Given the description of an element on the screen output the (x, y) to click on. 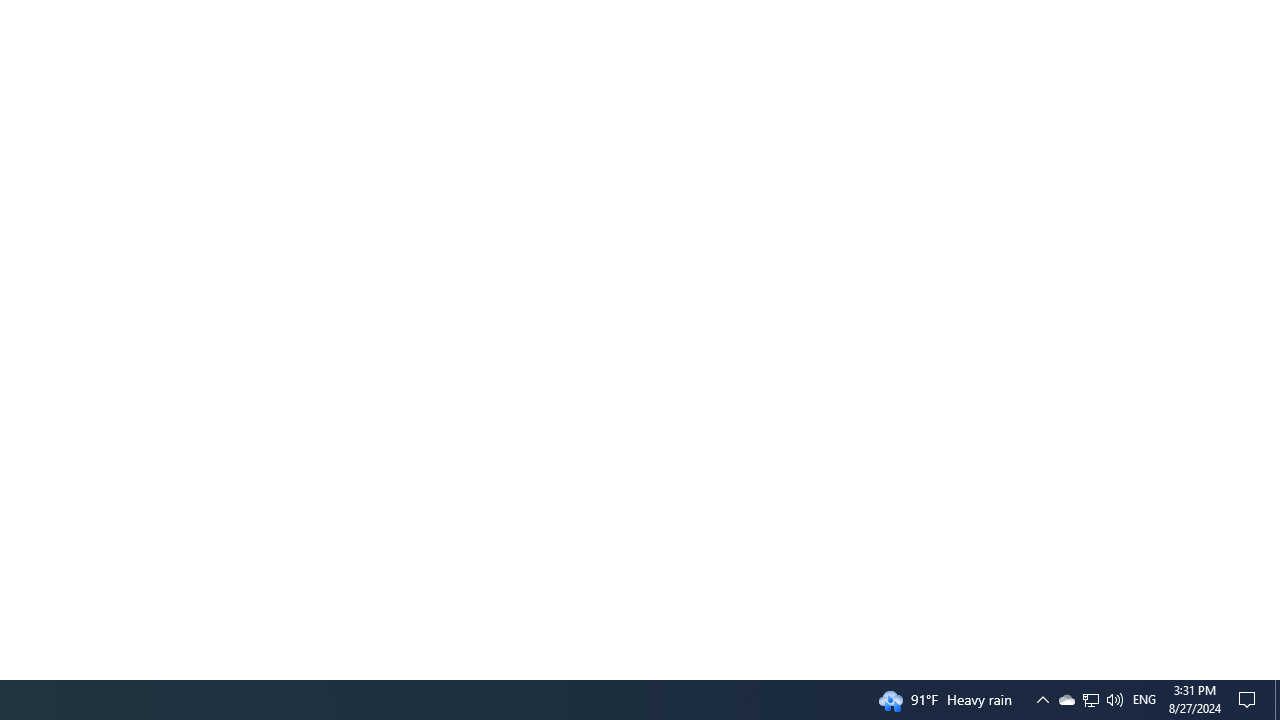
Tray Input Indicator - English (United States) (1144, 699)
